Given the description of an element on the screen output the (x, y) to click on. 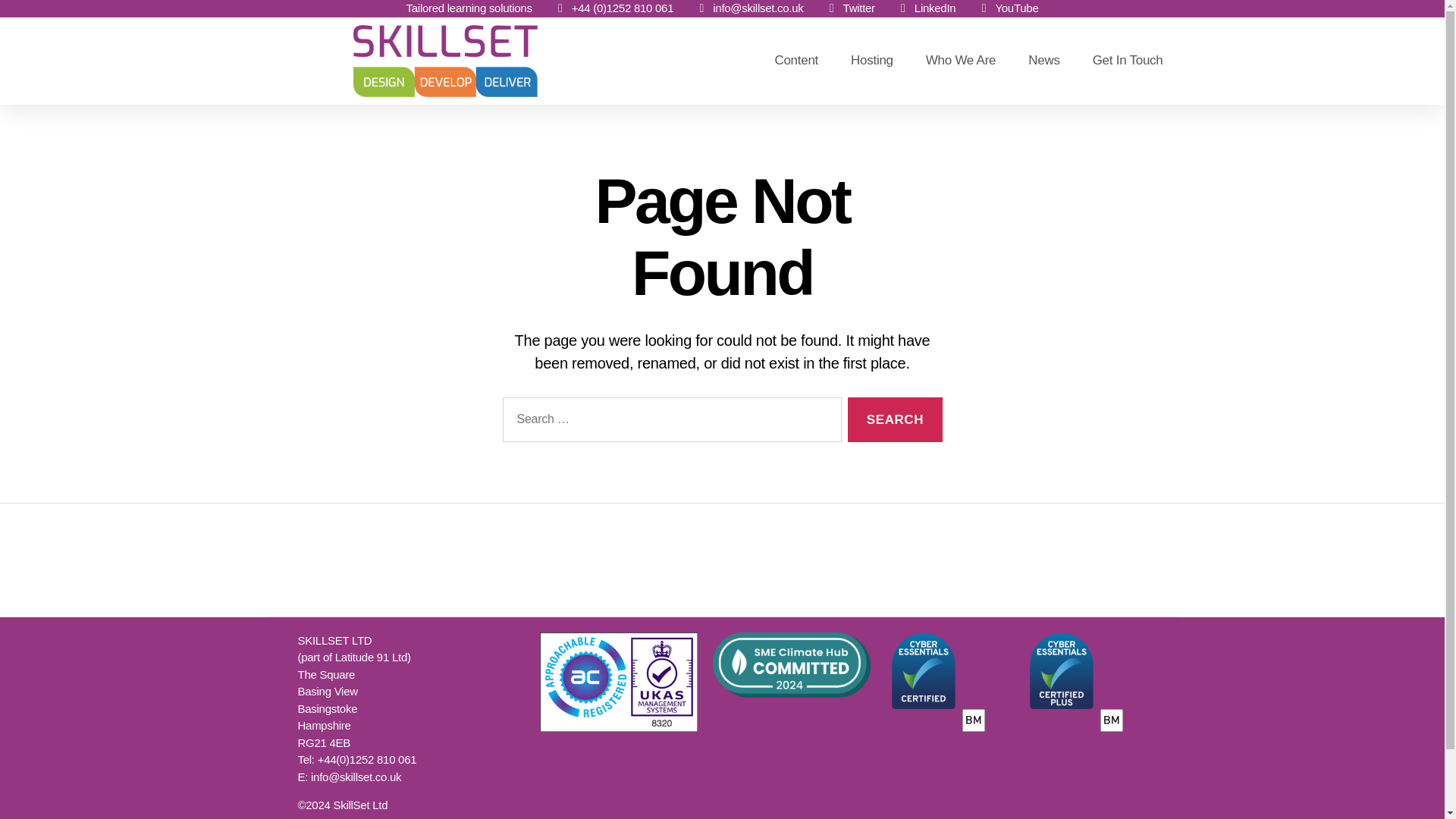
News (1043, 60)
Who We Are (960, 60)
Content (796, 60)
Search (894, 419)
CyberEssentials (1073, 682)
YouTube (1006, 8)
Search (894, 419)
Get In Touch (1127, 60)
CyberEssentials (935, 682)
Twitter (849, 8)
